Given the description of an element on the screen output the (x, y) to click on. 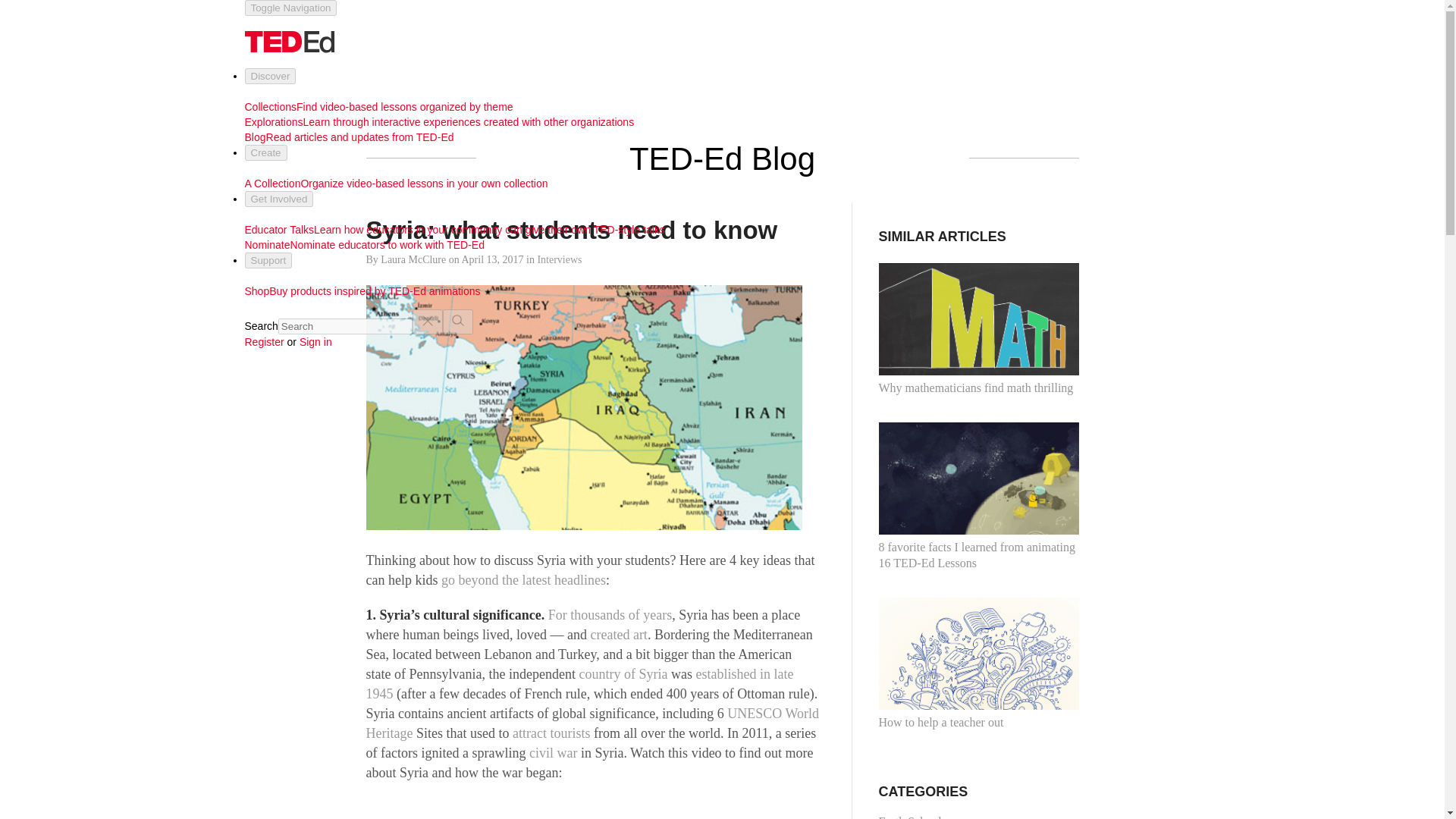
UNESCO World Heritage (591, 723)
Syria: what students need to know (571, 230)
created art (617, 634)
View all posts in Interviews (558, 259)
Permanent Link to Syria: what students need to know (571, 230)
go beyond the latest headlines (523, 580)
8 favorite facts I learned from animating 16 TED-Ed Lessons (977, 496)
How to help a teacher out (977, 663)
attract tourists (550, 733)
country of Syria (622, 673)
